Given the description of an element on the screen output the (x, y) to click on. 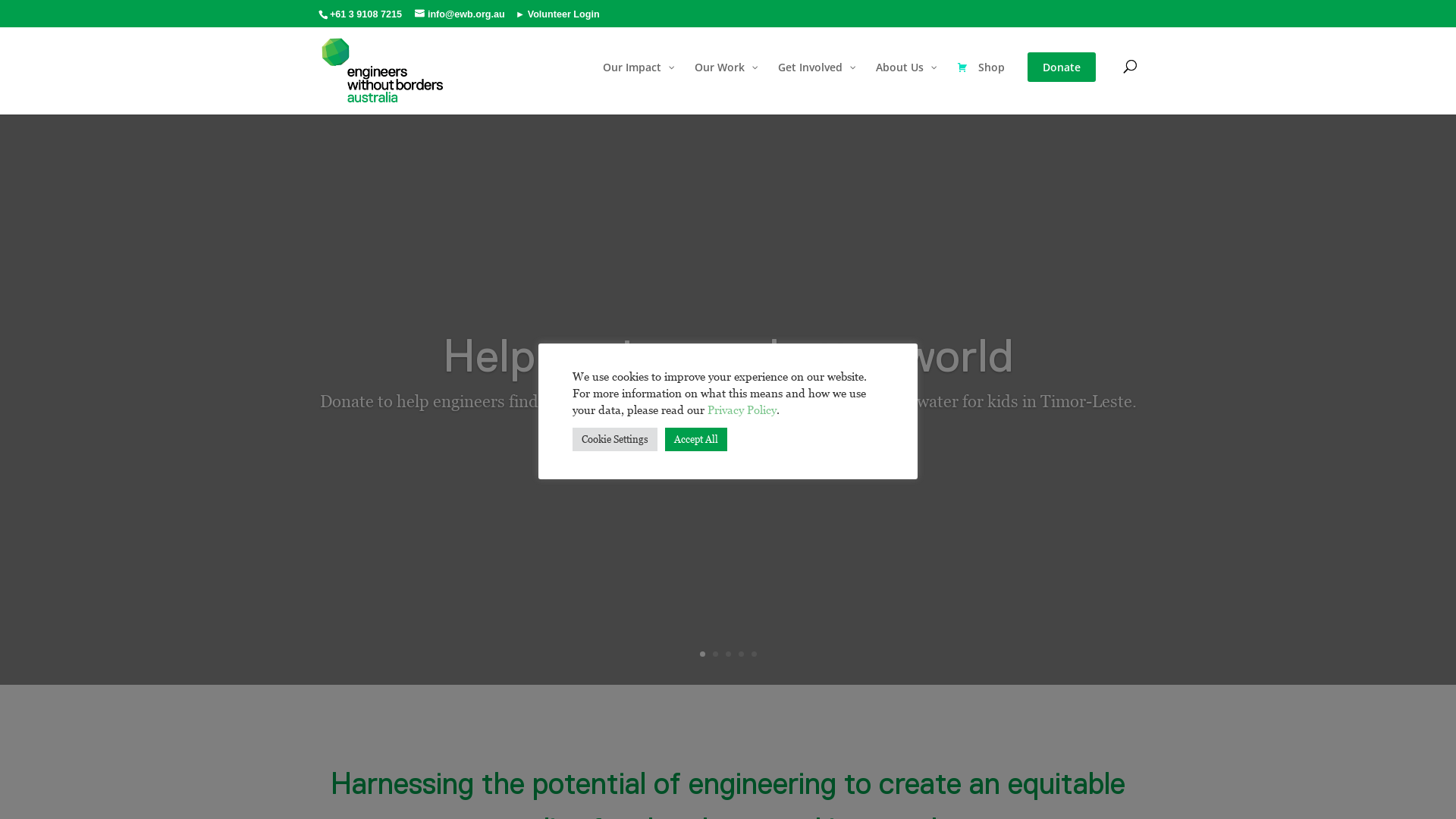
5 Element type: text (753, 653)
Cookie Settings Element type: text (614, 439)
Donate Element type: text (1061, 86)
Shop Element type: text (980, 83)
Accept All Element type: text (696, 439)
Privacy Policy Element type: text (741, 408)
1 Element type: text (701, 653)
Get Involved Element type: text (815, 82)
About Us Element type: text (904, 82)
Our Impact Element type: text (637, 82)
Our 2020 to 2030 Strategy Element type: text (727, 355)
Find out more Element type: text (727, 457)
3 Element type: text (727, 653)
2 Element type: text (715, 653)
4 Element type: text (740, 653)
info@ewb.org.au Element type: text (459, 12)
Our Work Element type: text (724, 82)
